Given the description of an element on the screen output the (x, y) to click on. 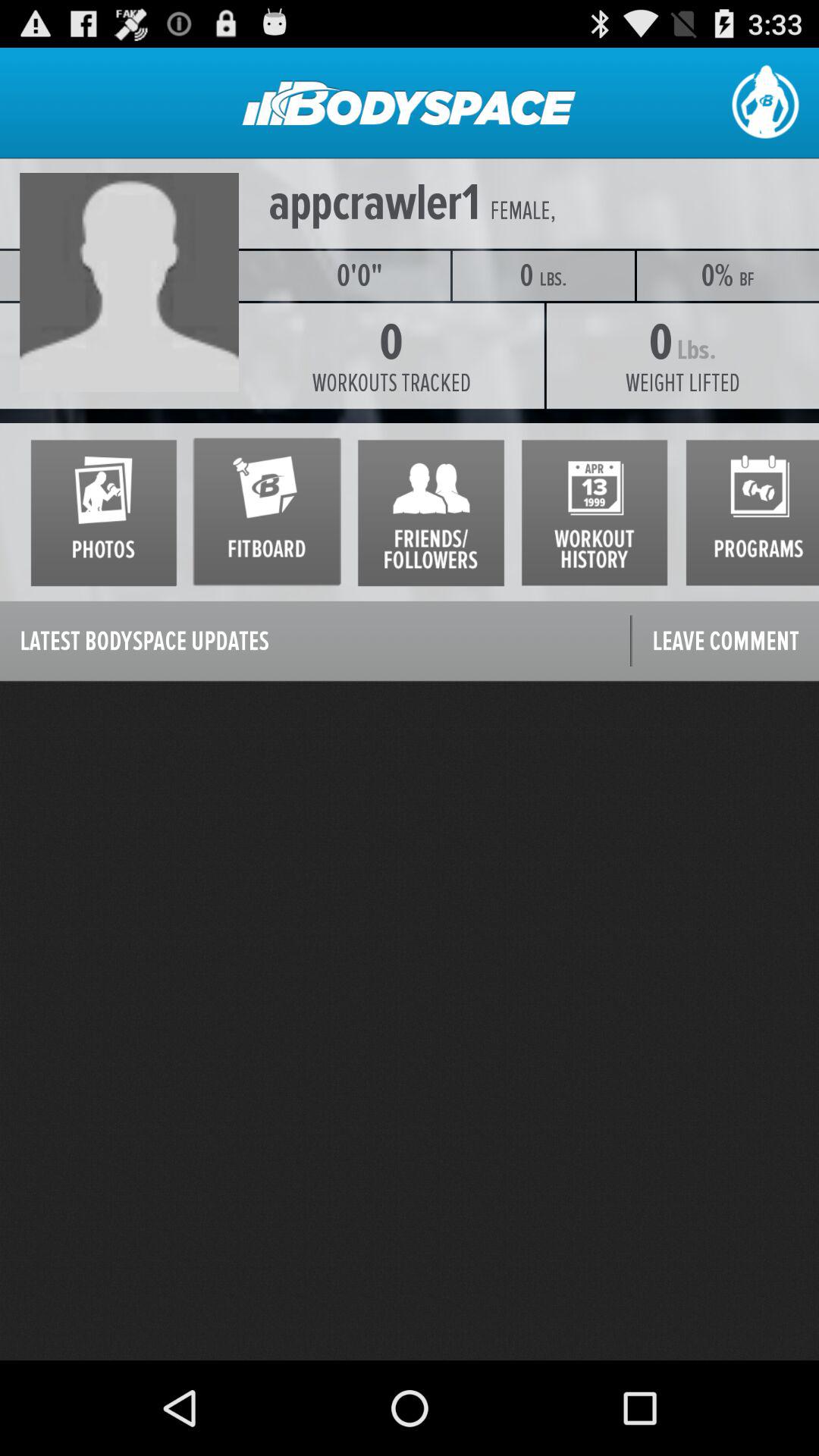
tap the item next to female (374, 202)
